Given the description of an element on the screen output the (x, y) to click on. 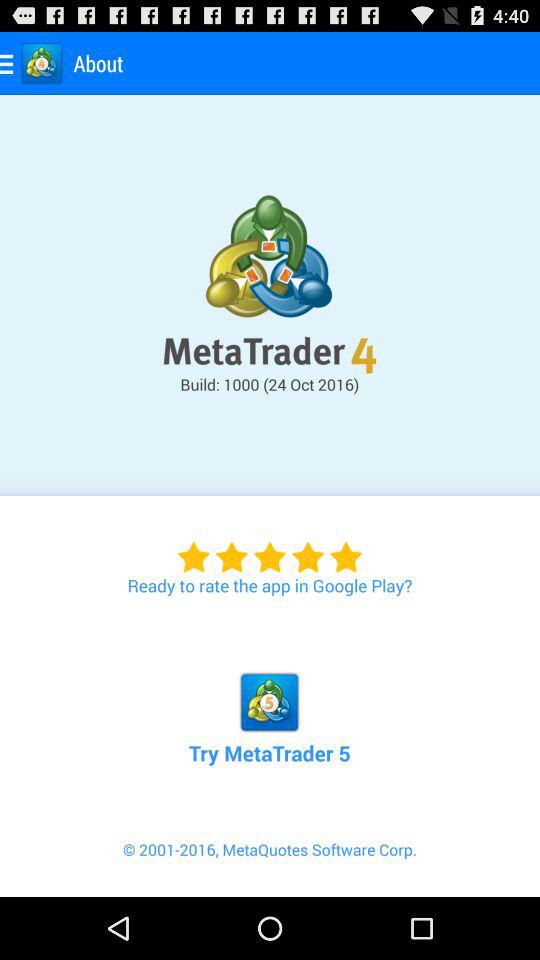
choose try metatrader 5 (269, 696)
